Given the description of an element on the screen output the (x, y) to click on. 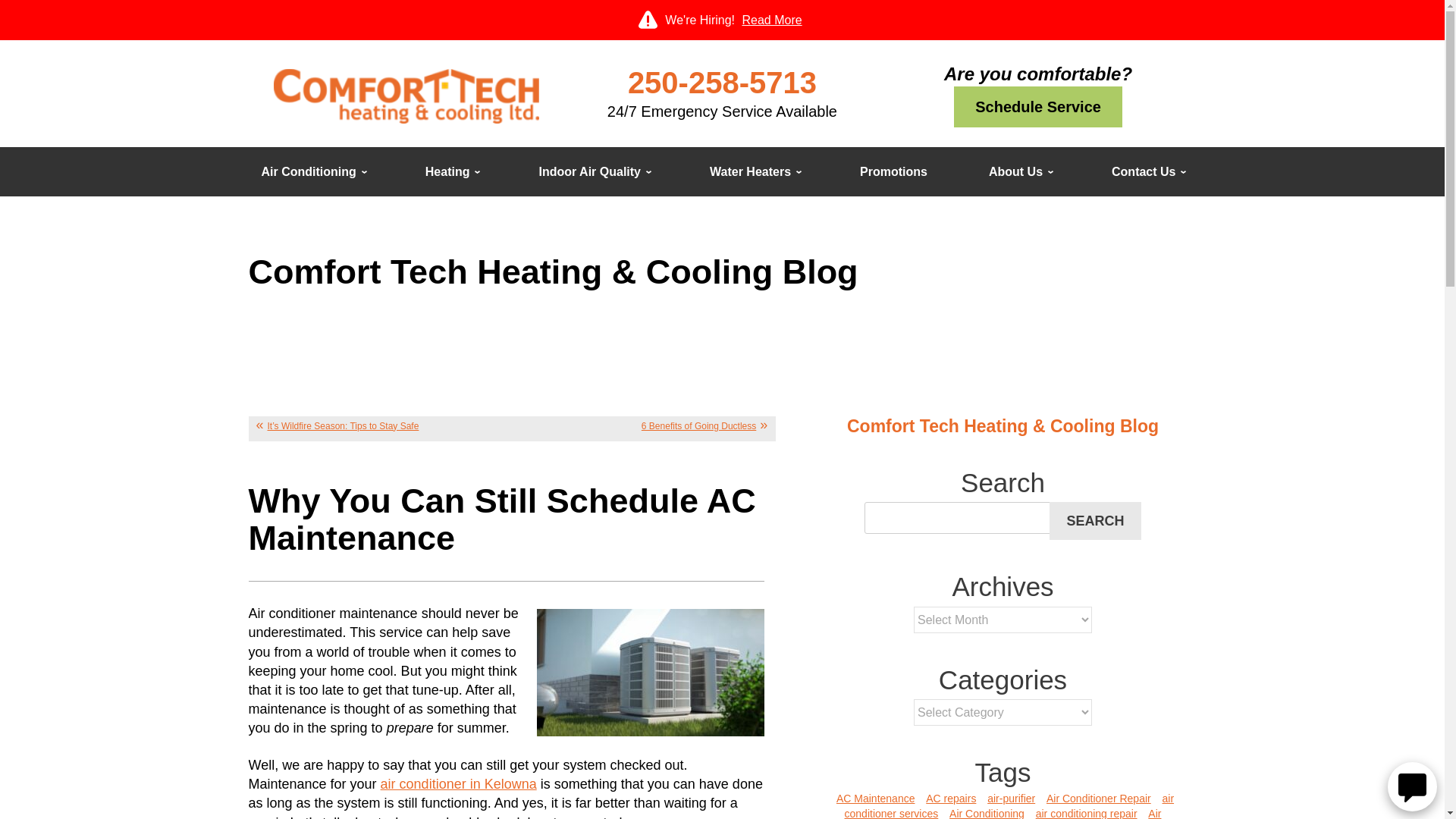
Promotions (893, 171)
air conditioner in Kelowna (458, 783)
Read More (771, 19)
250-258-5713 (721, 82)
Indoor Air Quality (593, 171)
Heating (451, 171)
Water Heaters (753, 171)
Schedule Service (1037, 106)
Air Conditioning (312, 171)
About Us (1018, 171)
